Given the description of an element on the screen output the (x, y) to click on. 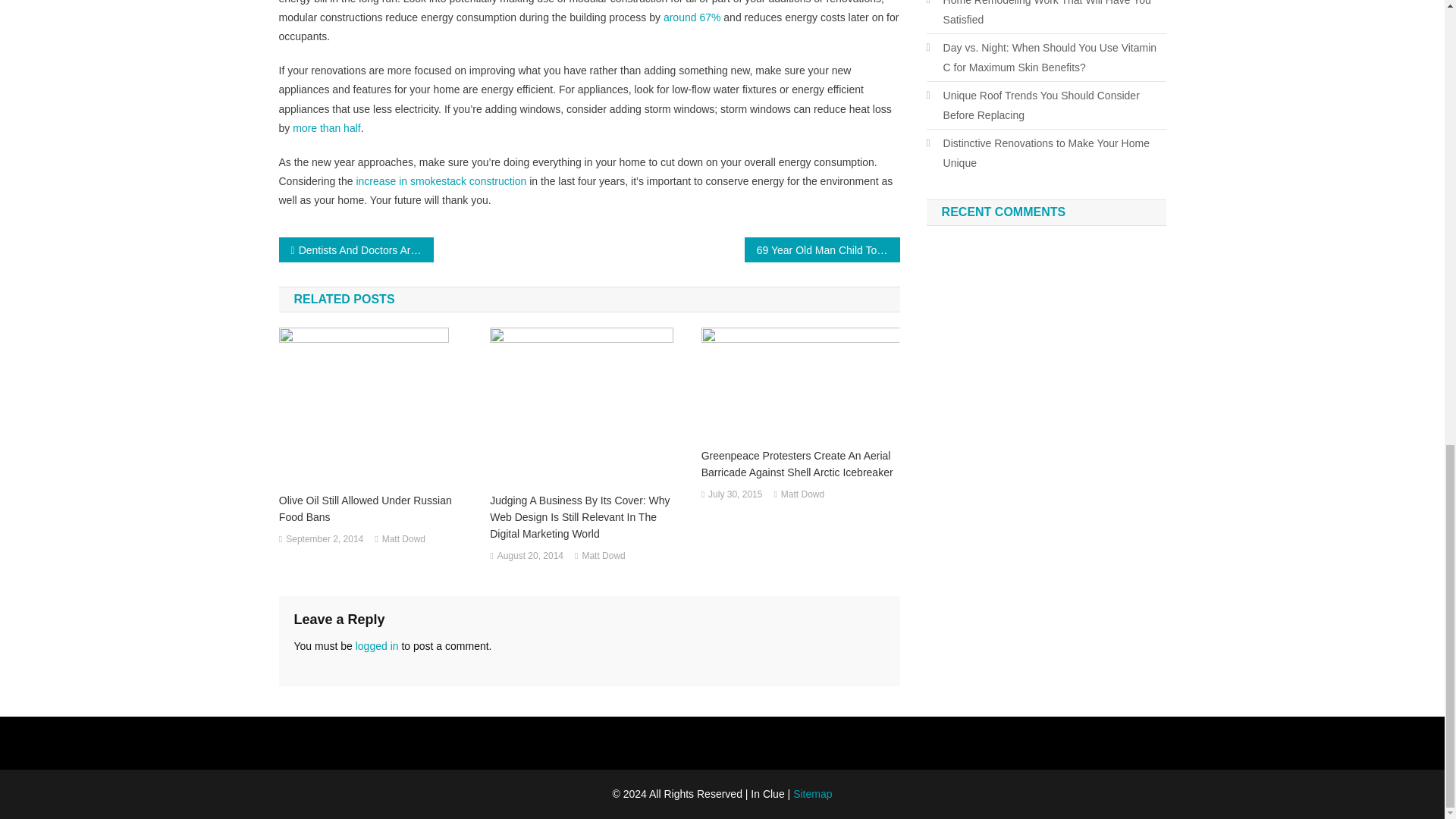
Matt Dowd (602, 556)
July 30, 2015 (734, 494)
September 2, 2014 (323, 539)
Olive Oil Still Allowed Under Russian Food Bans (378, 508)
August 20, 2014 (530, 556)
Matt Dowd (403, 539)
